Given the description of an element on the screen output the (x, y) to click on. 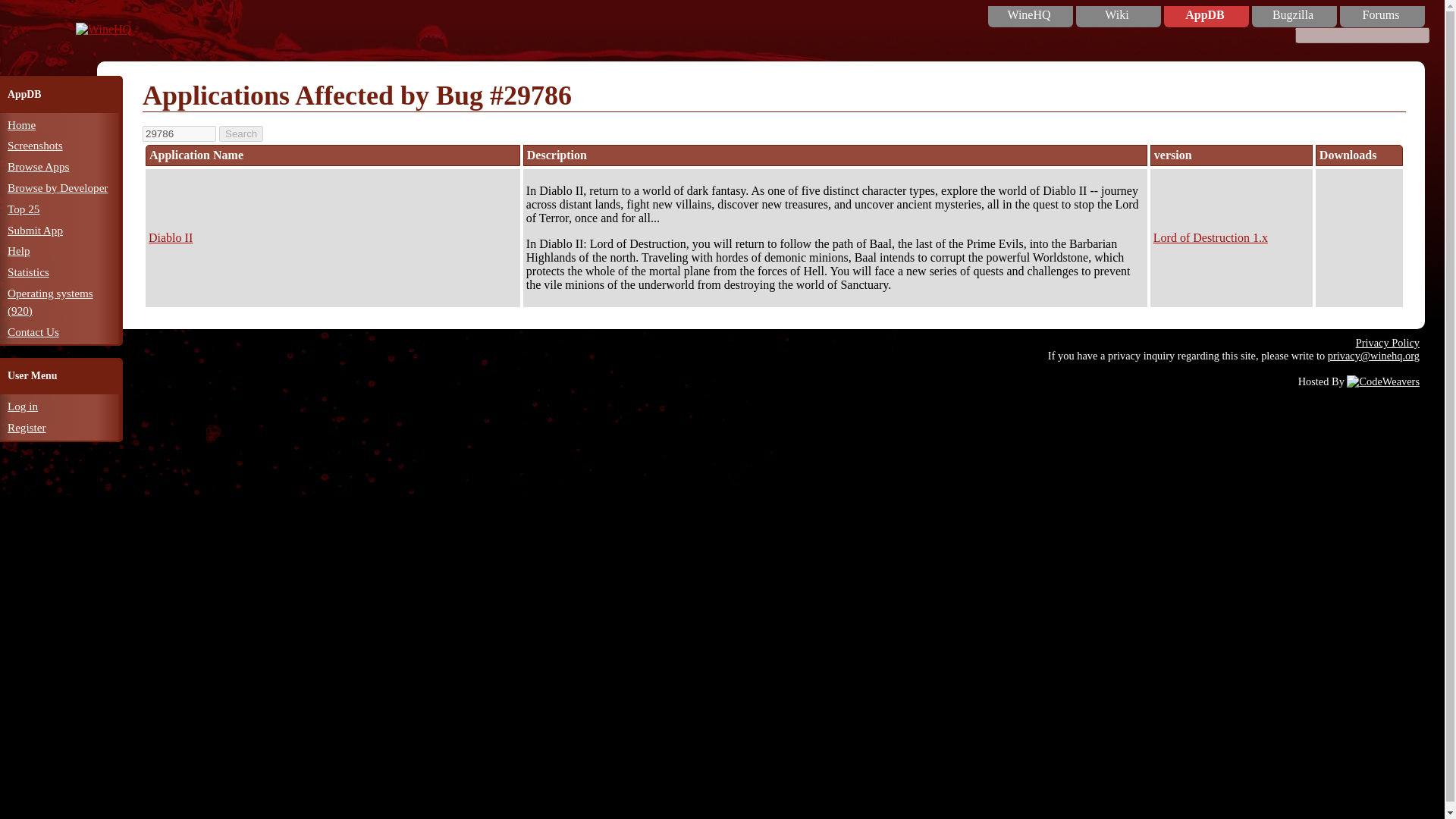
WineHQ (1029, 15)
Wiki (1116, 15)
Search (241, 133)
Screenshots (34, 144)
Privacy Policy (1387, 342)
Bugzilla (1292, 15)
Browse Apps (37, 165)
Home (20, 124)
Help (18, 250)
Submit App (34, 229)
Contact Us (33, 331)
Diablo II (170, 237)
Browse by Developer (57, 187)
AppDB (1204, 15)
